Given the description of an element on the screen output the (x, y) to click on. 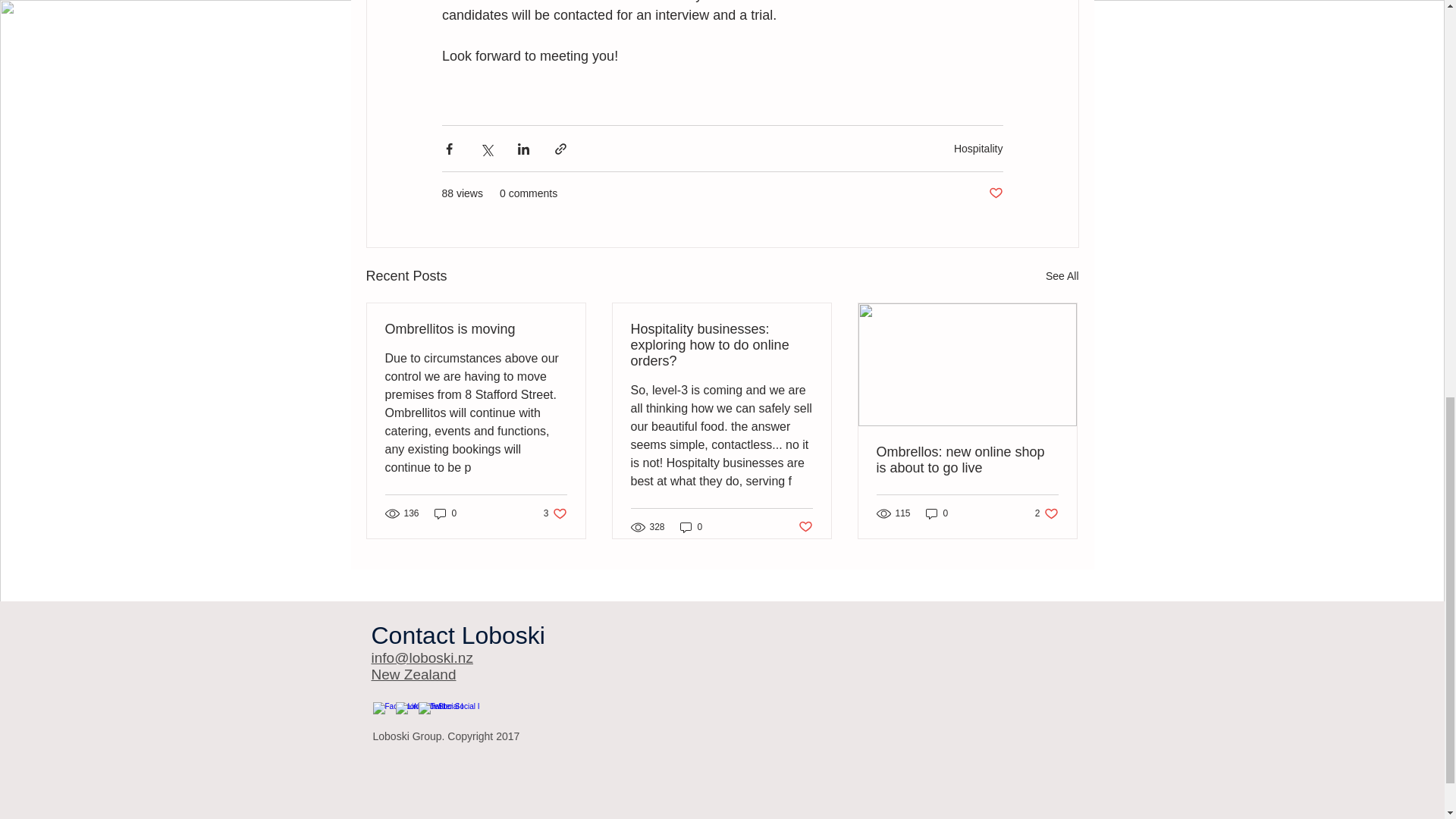
Post not marked as liked (1046, 513)
Ombrellos: new online shop is about to go live (995, 193)
0 (967, 459)
Hospitality businesses: exploring how to do online orders? (691, 527)
0 (721, 345)
Hospitality (937, 513)
Post not marked as liked (978, 148)
See All (804, 527)
0 (555, 513)
Ombrellitos is moving (1061, 276)
